Given the description of an element on the screen output the (x, y) to click on. 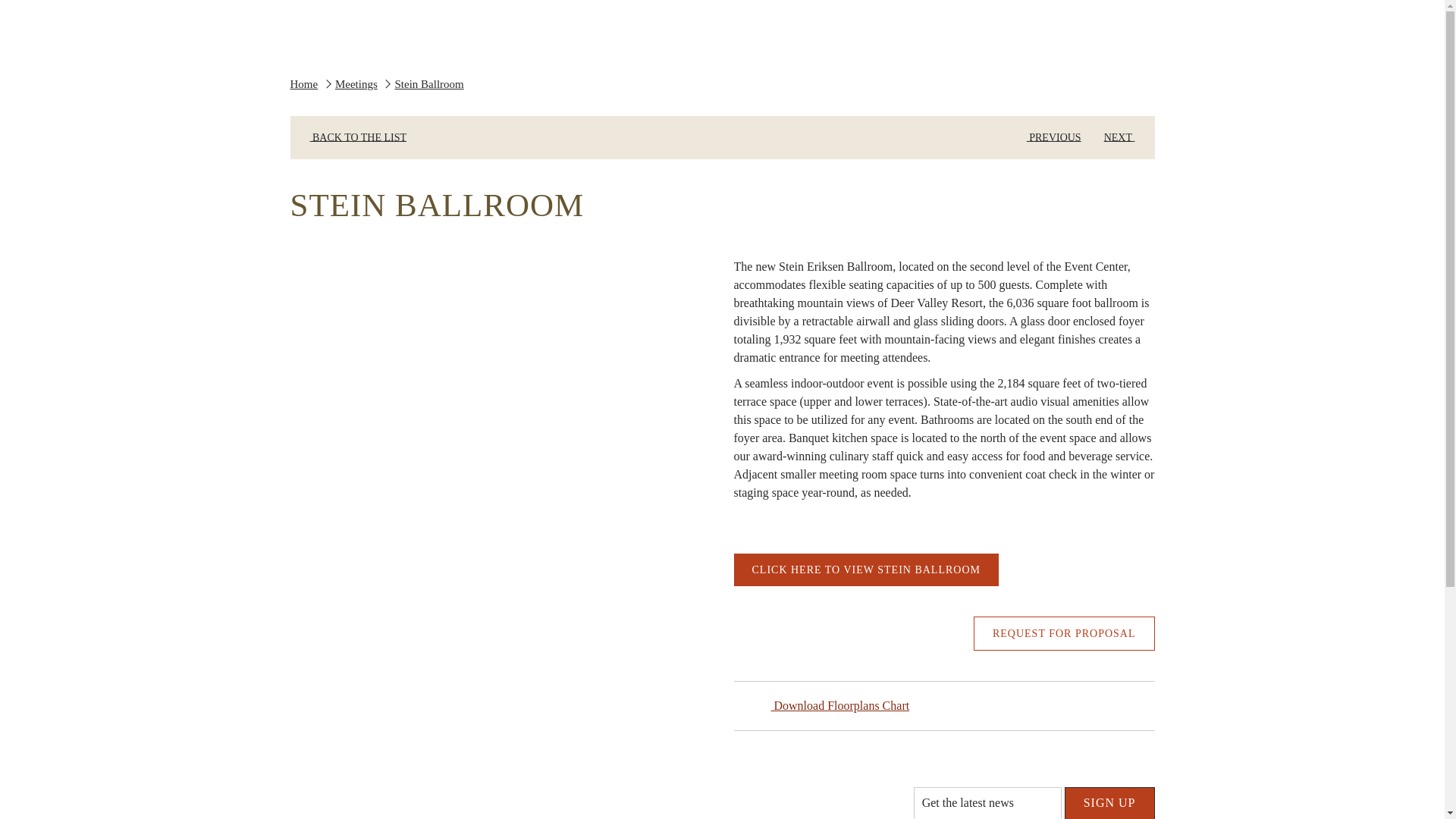
PREVIOUS (1048, 137)
REQUEST FOR PROPOSAL (1064, 633)
BACK TO THE LIST (352, 137)
SIGN UP (1109, 803)
Home (303, 83)
Stein Ballroom (428, 83)
NEXT (1124, 137)
CLICK HERE TO VIEW STEIN BALLROOM (865, 569)
Download Floorplans Chart (838, 705)
Meetings (355, 83)
